Given the description of an element on the screen output the (x, y) to click on. 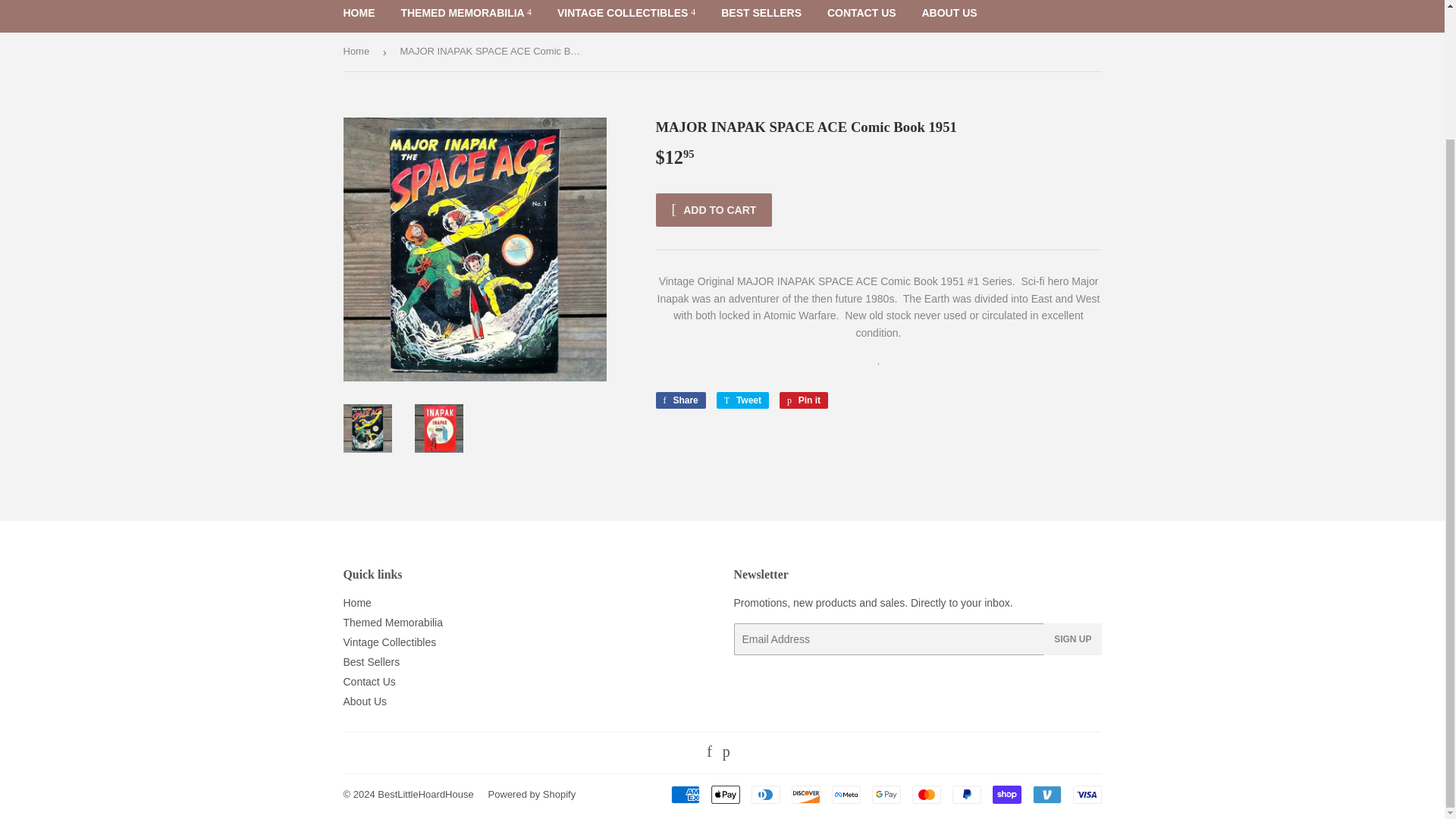
Shop Pay (1005, 794)
Meta Pay (845, 794)
Pin on Pinterest (803, 400)
Google Pay (886, 794)
Visa (1085, 794)
Discover (806, 794)
Diners Club (764, 794)
American Express (683, 794)
Venmo (1046, 794)
Tweet on Twitter (742, 400)
